Given the description of an element on the screen output the (x, y) to click on. 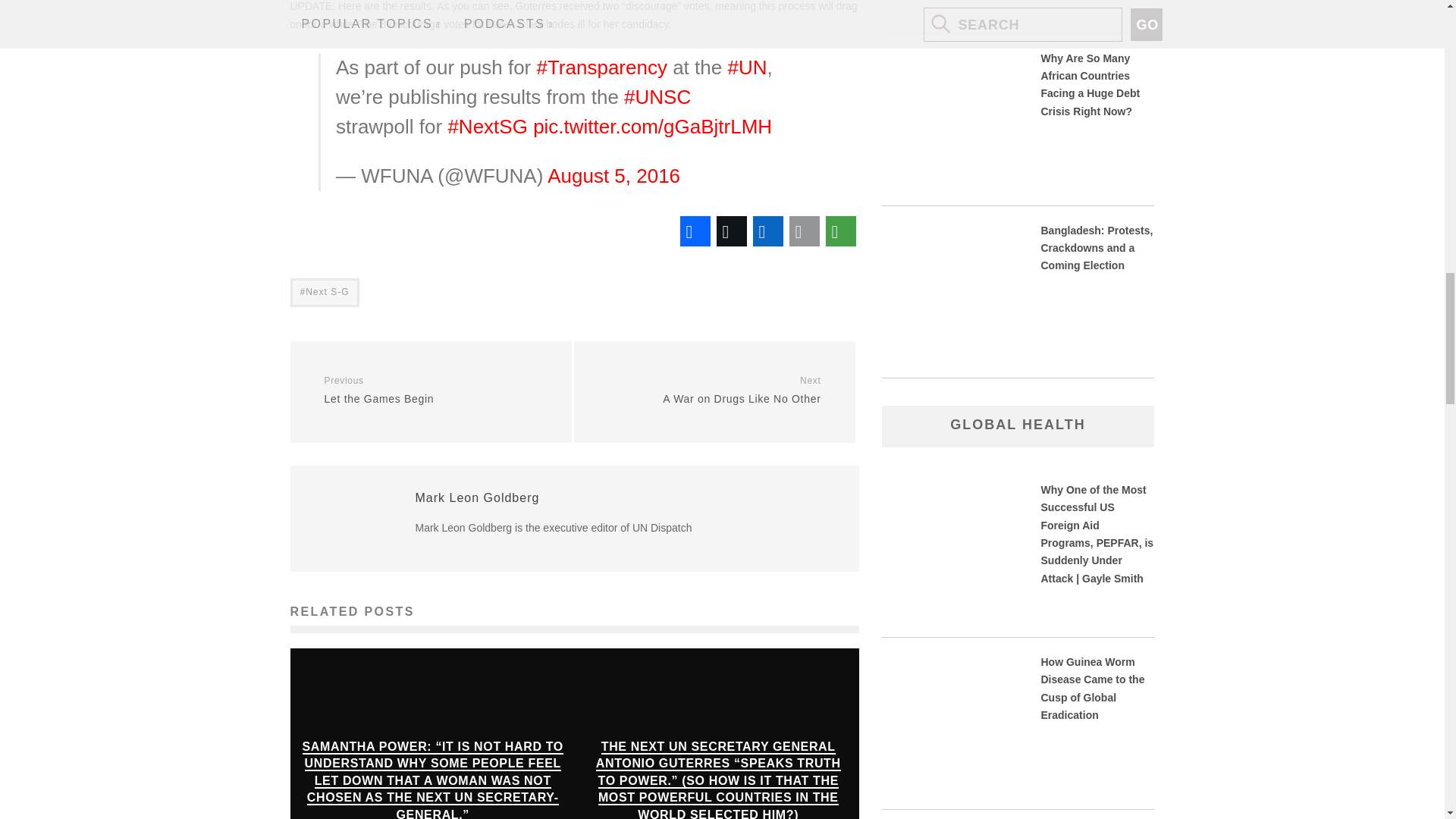
More Options (840, 230)
LinkedIn (767, 230)
Facebook (695, 230)
Email This (804, 230)
